Given the description of an element on the screen output the (x, y) to click on. 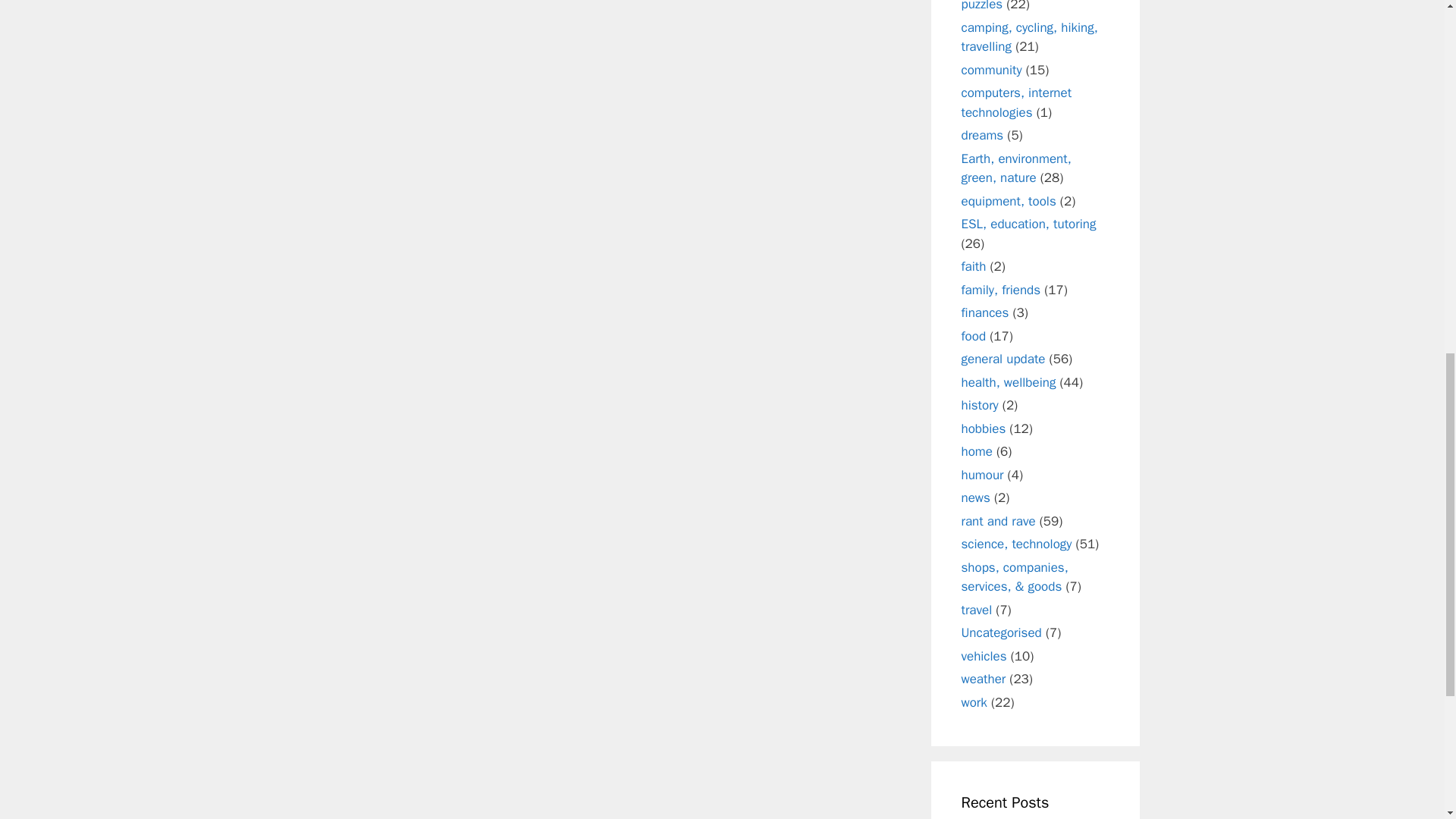
family, friends (1000, 289)
hobbies (983, 427)
history (979, 405)
ESL, education, tutoring (1028, 223)
camping, cycling, hiking, travelling (1028, 37)
equipment, tools (1008, 200)
general update (1002, 358)
home (976, 451)
faith (973, 266)
community (991, 69)
books, entertainment, magazines, movies, puzzles (1023, 6)
Earth, environment, green, nature (1015, 167)
health, wellbeing (1008, 382)
computers, internet technologies (1015, 102)
Scroll back to top (1406, 720)
